Given the description of an element on the screen output the (x, y) to click on. 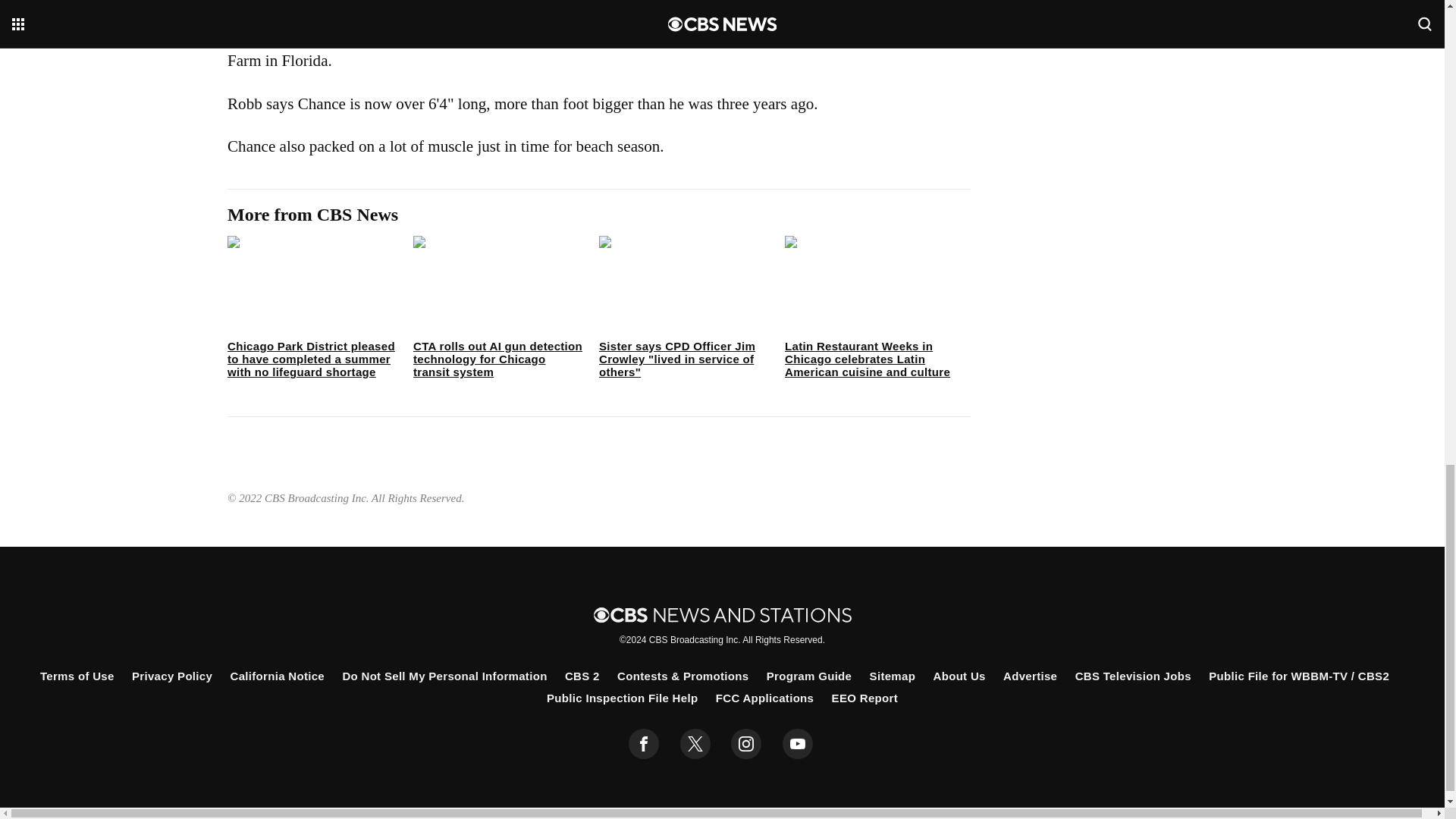
instagram (745, 743)
facebook (643, 743)
youtube (797, 743)
twitter (694, 743)
